Given the description of an element on the screen output the (x, y) to click on. 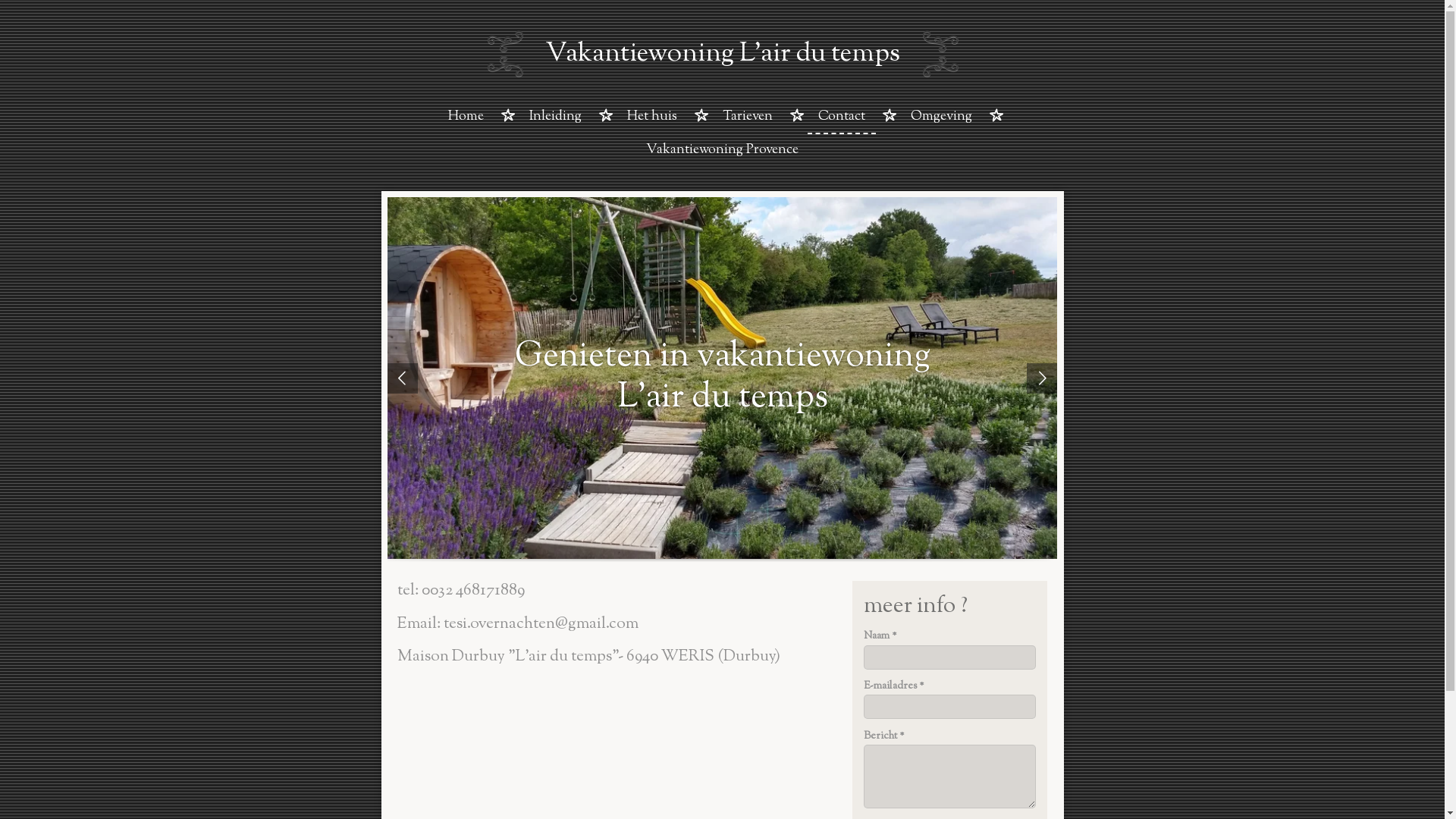
Omgeving Element type: text (941, 117)
Tarieven Element type: text (747, 117)
Home Element type: text (465, 117)
Inleiding Element type: text (555, 117)
Het huis Element type: text (651, 117)
Vakantiewoning Provence Element type: text (722, 150)
Contact Element type: text (841, 117)
Vakantiewoning L'air du temps Element type: text (721, 53)
